Given the description of an element on the screen output the (x, y) to click on. 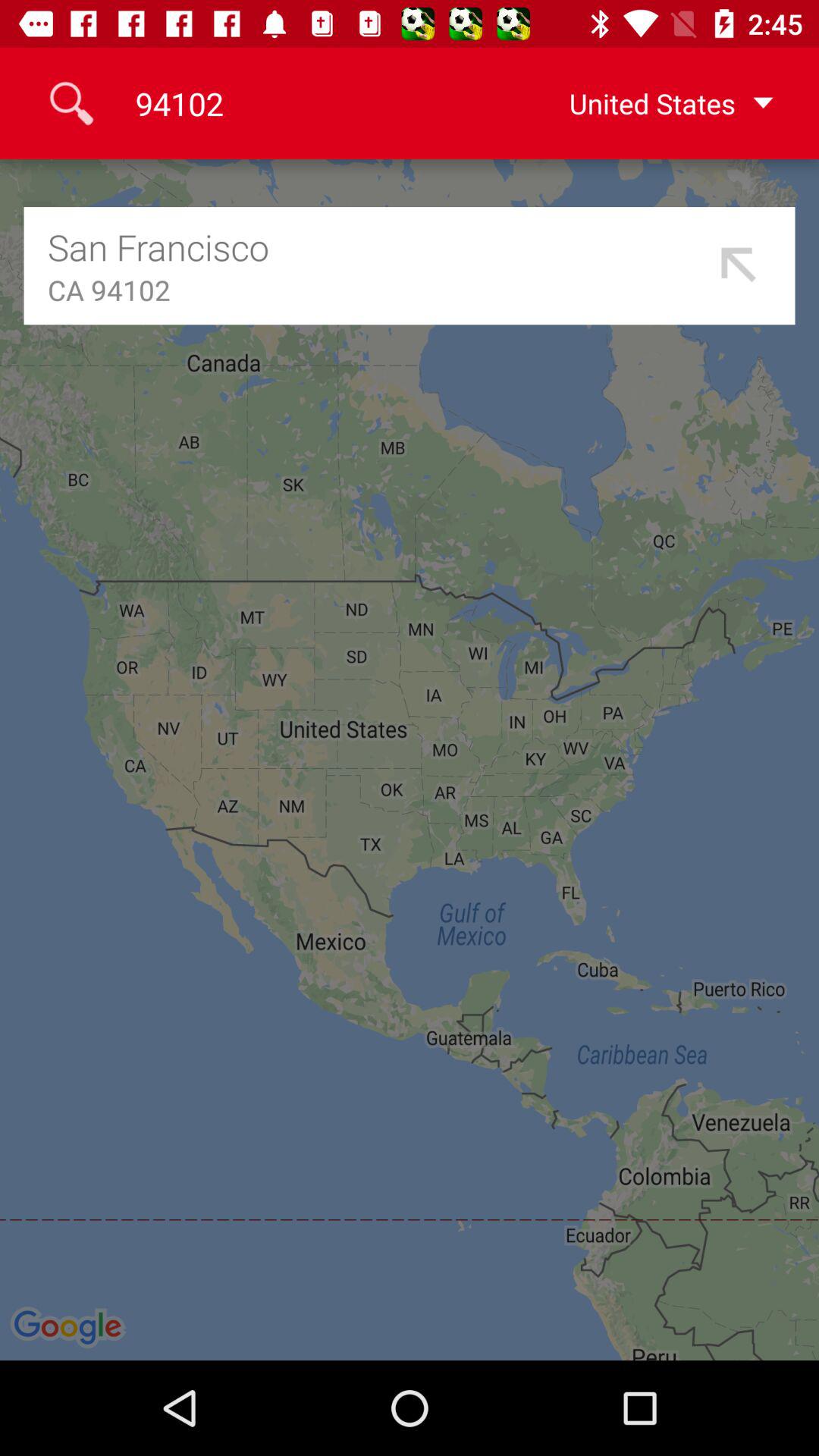
select icon below san francisco icon (377, 289)
